Given the description of an element on the screen output the (x, y) to click on. 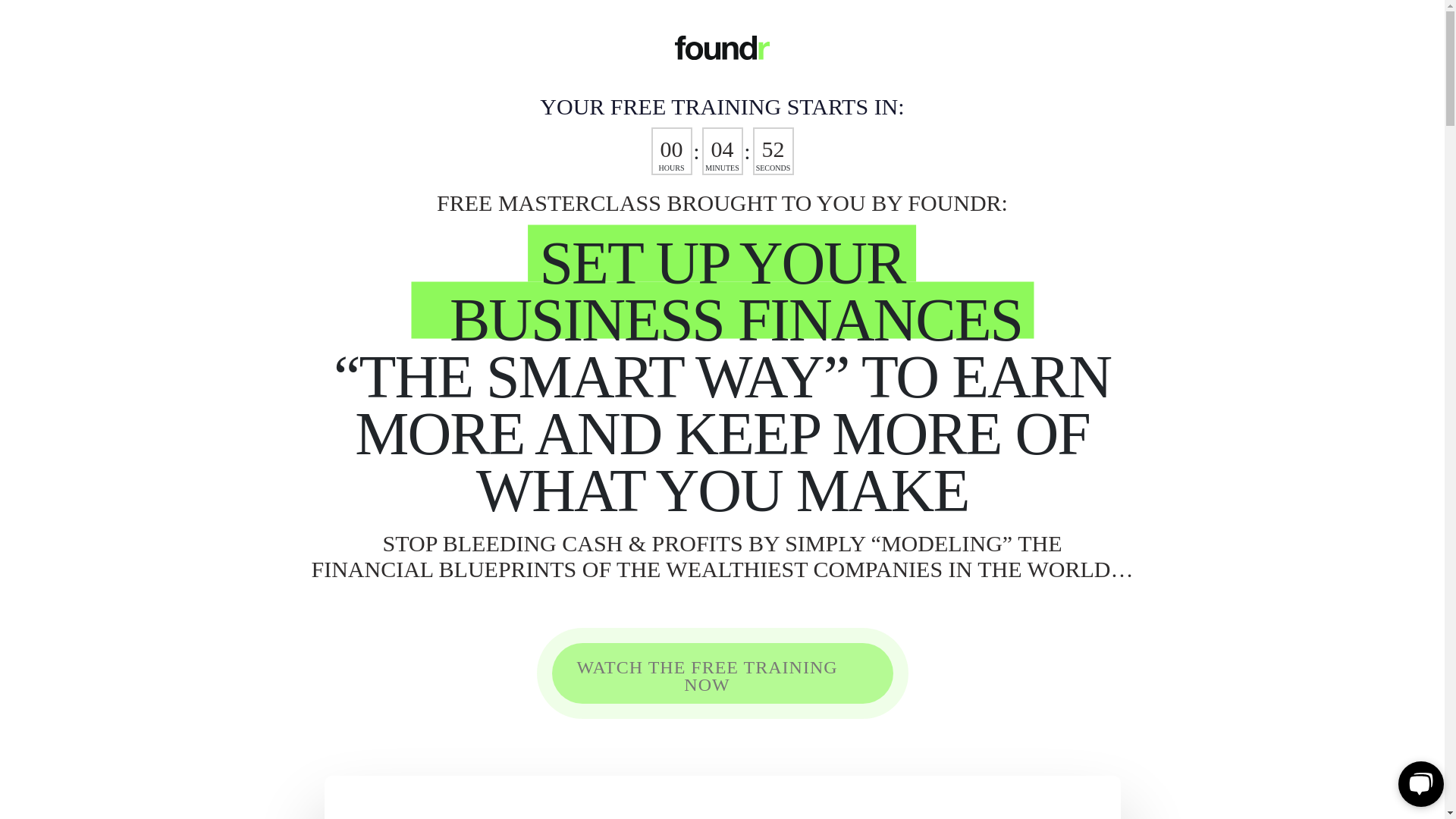
Chat Widget (1418, 782)
WATCH THE FREE TRAINING NOW (722, 672)
